Given the description of an element on the screen output the (x, y) to click on. 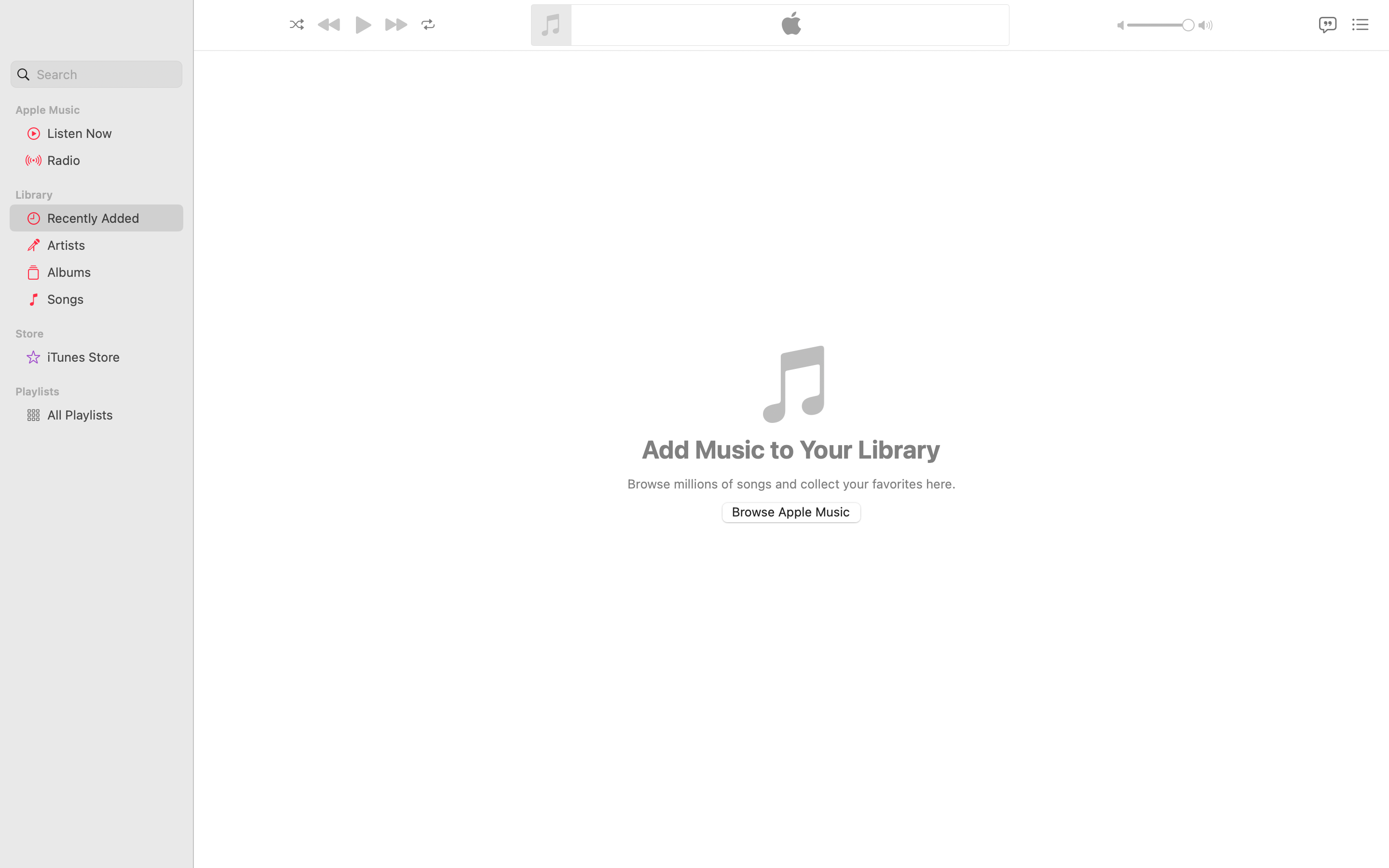
Apple Music Element type: AXStaticText (101, 109)
Recently Added Element type: AXStaticText (111, 217)
Radio Element type: AXStaticText (111, 159)
Songs Element type: AXStaticText (111, 298)
Albums Element type: AXStaticText (111, 271)
